Given the description of an element on the screen output the (x, y) to click on. 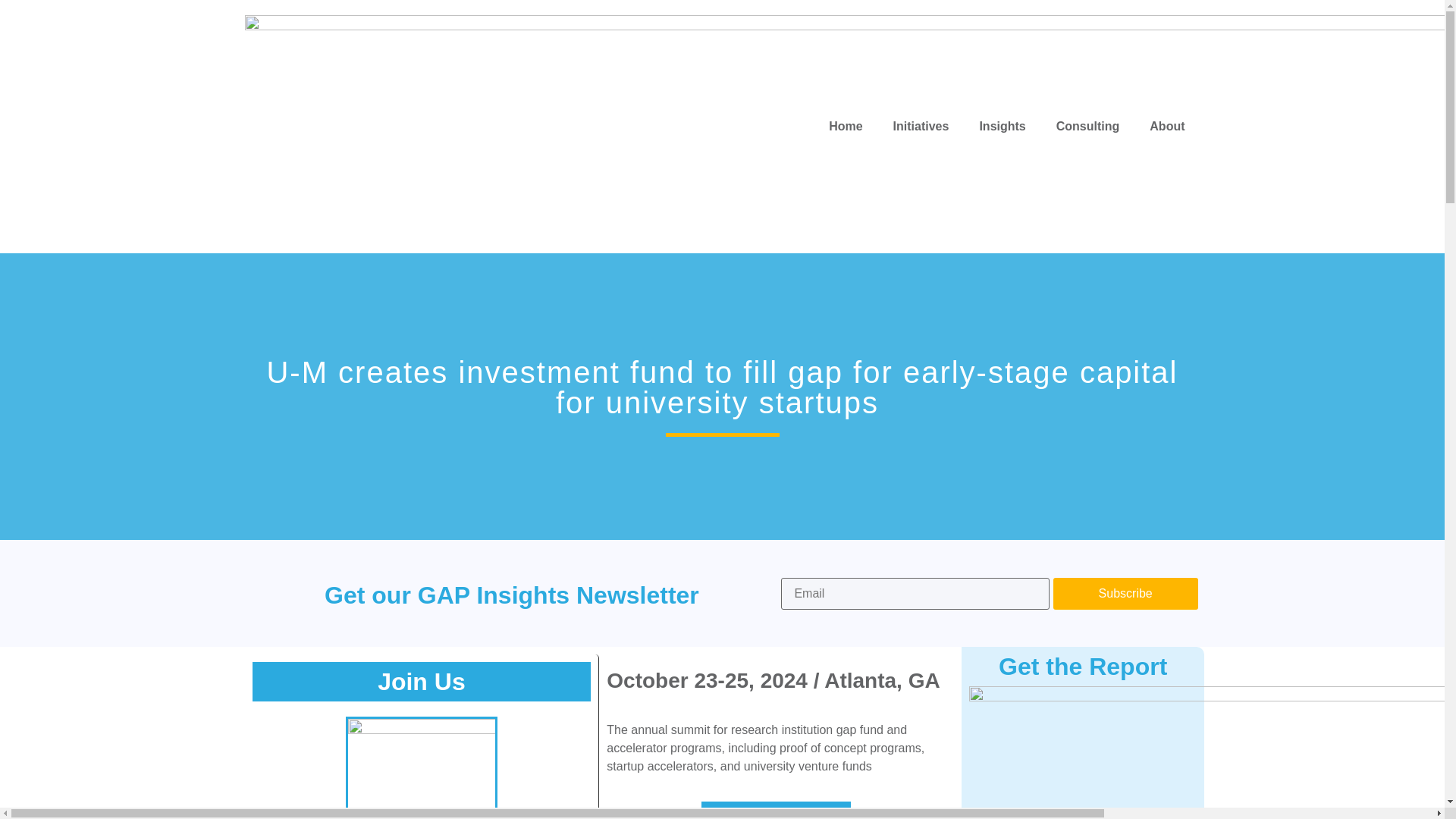
Consulting (1088, 126)
Initiatives (920, 126)
Subscribe (1125, 593)
VISIT EVENT SITE (775, 810)
Insights (1002, 126)
Home (845, 126)
About (1166, 126)
